Given the description of an element on the screen output the (x, y) to click on. 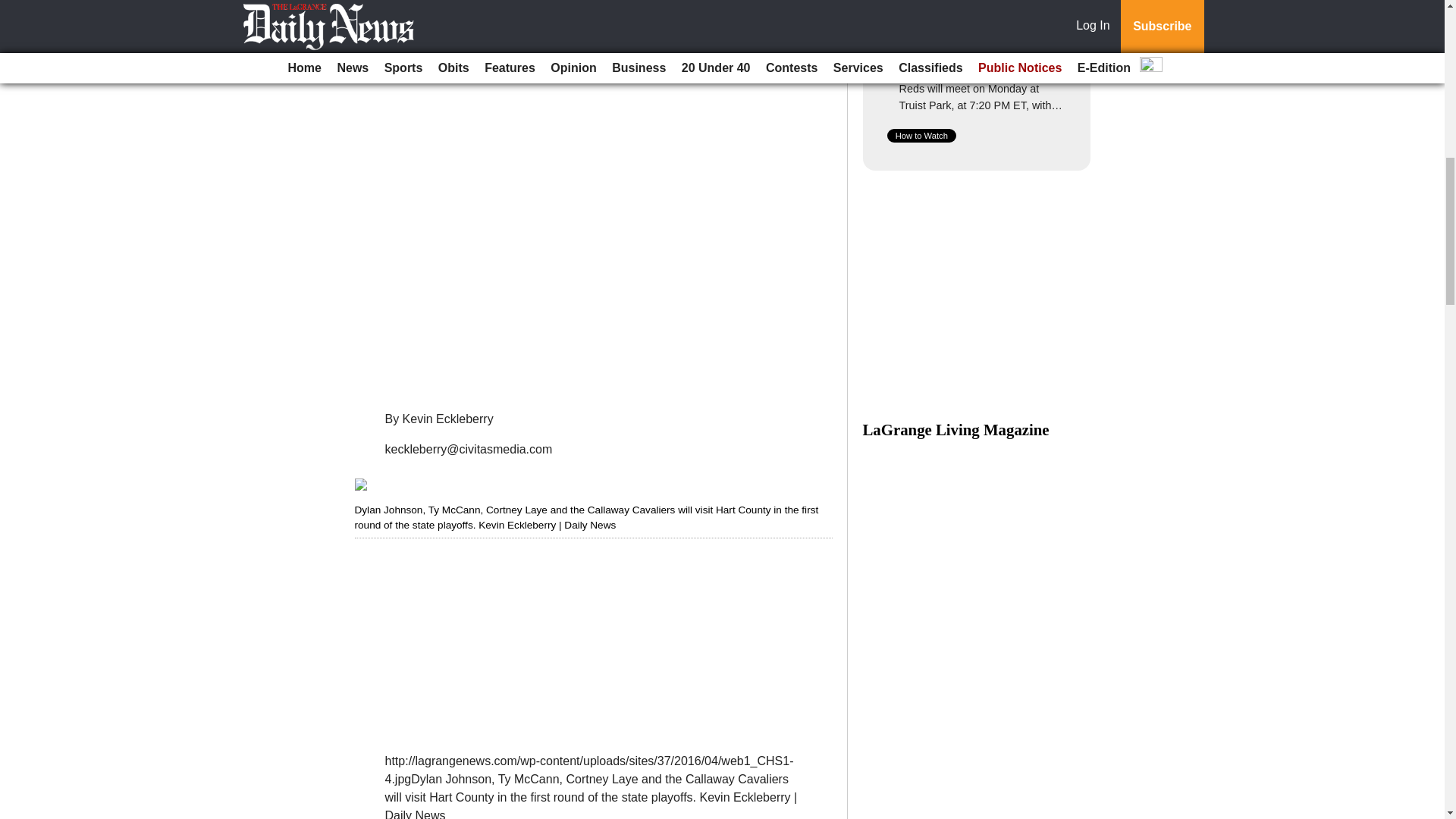
How to Watch (921, 135)
